Given the description of an element on the screen output the (x, y) to click on. 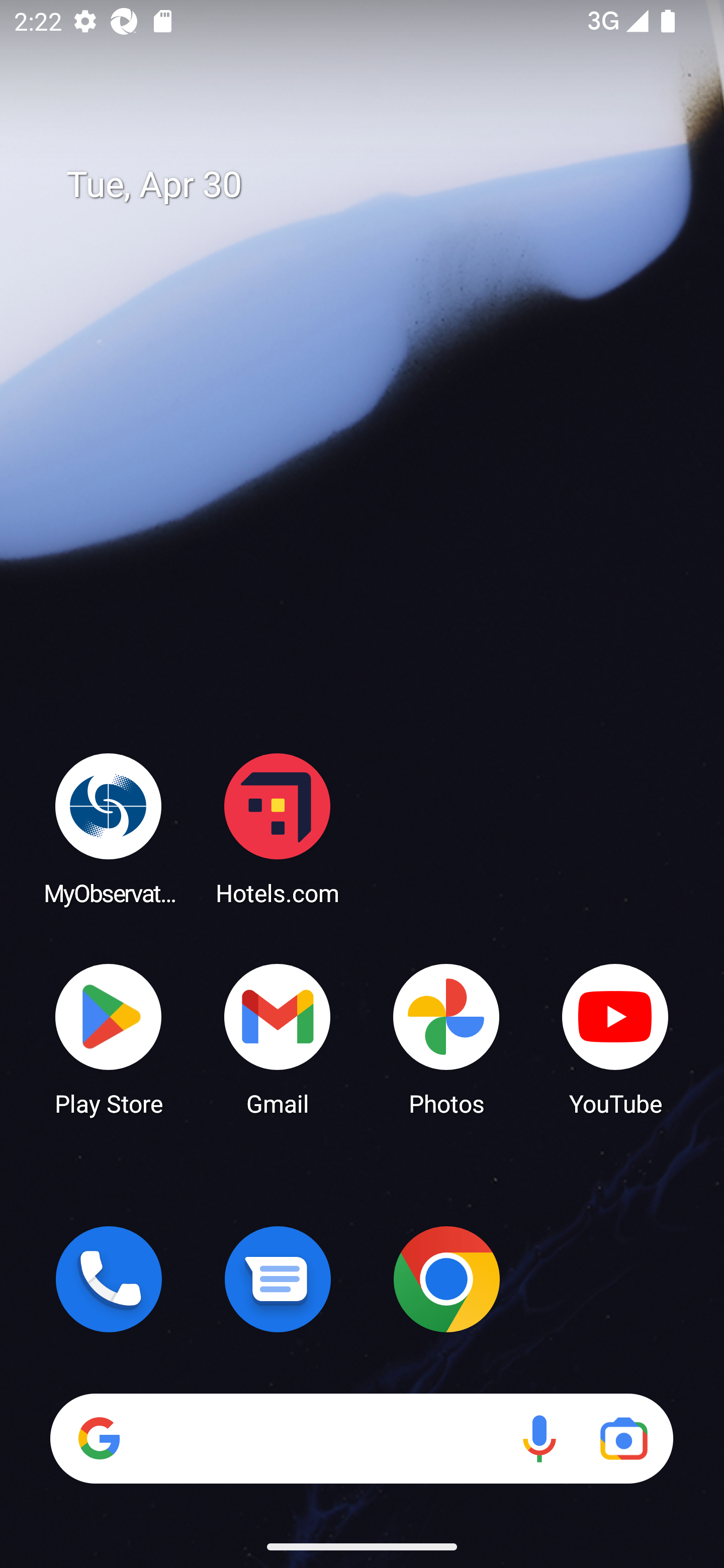
Tue, Apr 30 (375, 184)
MyObservatory (108, 828)
Hotels.com (277, 828)
Play Store (108, 1038)
Gmail (277, 1038)
Photos (445, 1038)
YouTube (615, 1038)
Phone (108, 1279)
Messages (277, 1279)
Chrome (446, 1279)
Search Voice search Google Lens (361, 1438)
Voice search (539, 1438)
Google Lens (623, 1438)
